Given the description of an element on the screen output the (x, y) to click on. 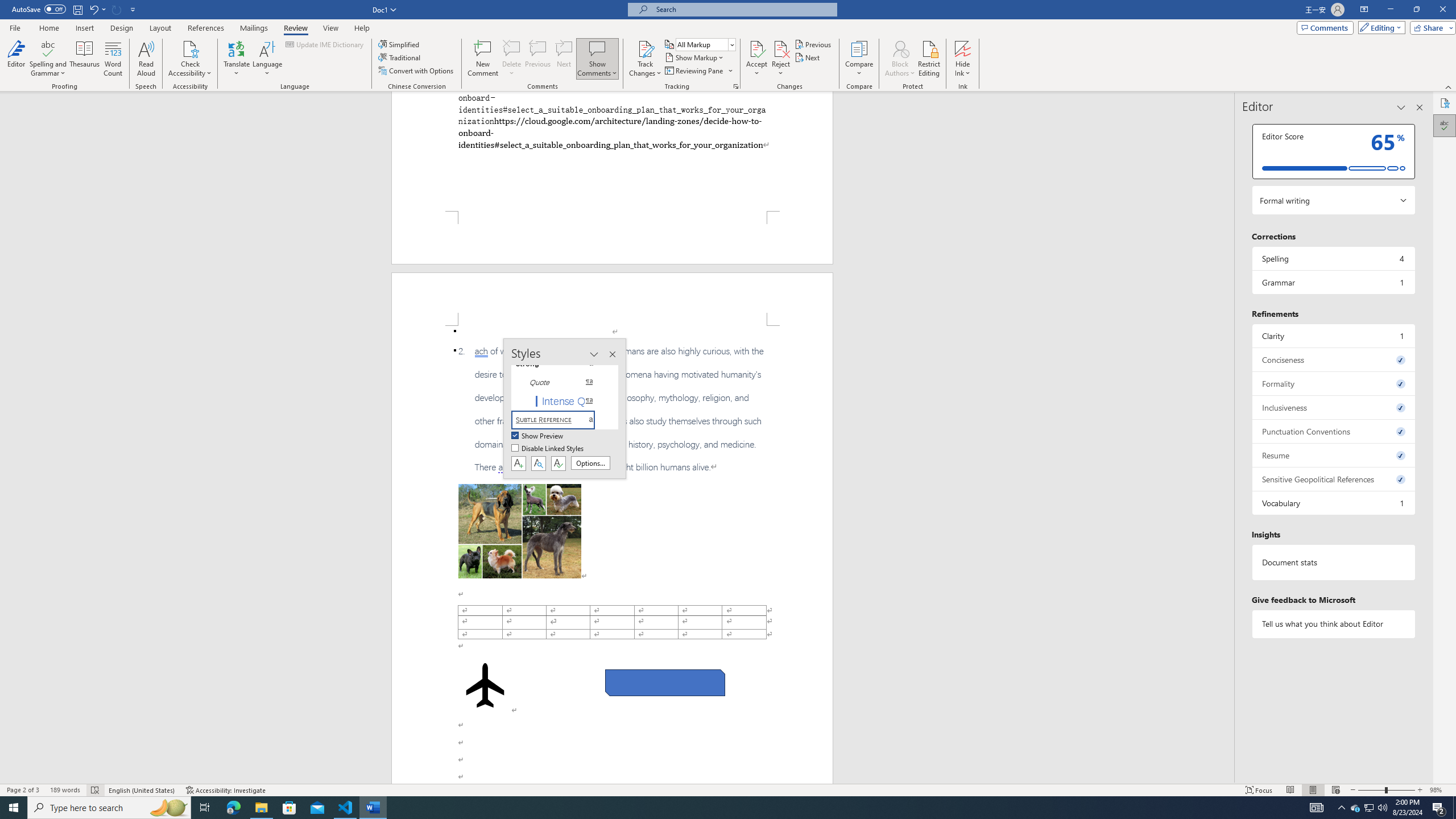
Spelling and Grammar (48, 48)
Intense Quote (559, 400)
Next (808, 56)
Block Authors (900, 48)
2. (611, 409)
Reviewing Pane (698, 69)
Check Accessibility (189, 58)
Delete (511, 58)
Show Preview (537, 436)
Page Number Page 2 of 3 (22, 790)
Page 2 content (611, 554)
